Given the description of an element on the screen output the (x, y) to click on. 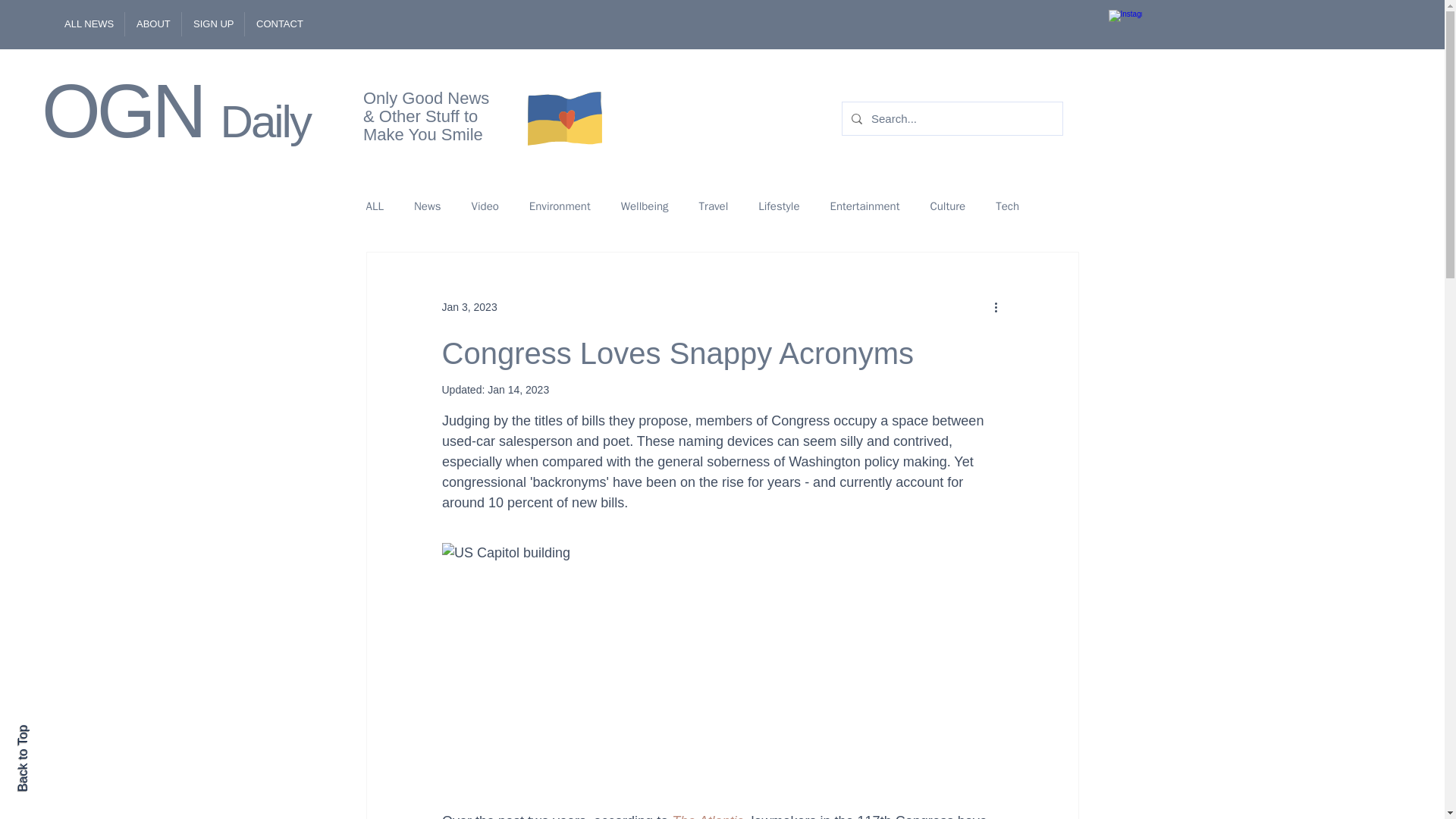
The Atlantic (706, 816)
Tech (1007, 205)
Video (485, 205)
Jan 14, 2023 (517, 389)
ALL (373, 205)
Environment (560, 205)
ALL NEWS (87, 24)
ABOUT (151, 24)
News (427, 205)
OGN Daily (176, 110)
